Given the description of an element on the screen output the (x, y) to click on. 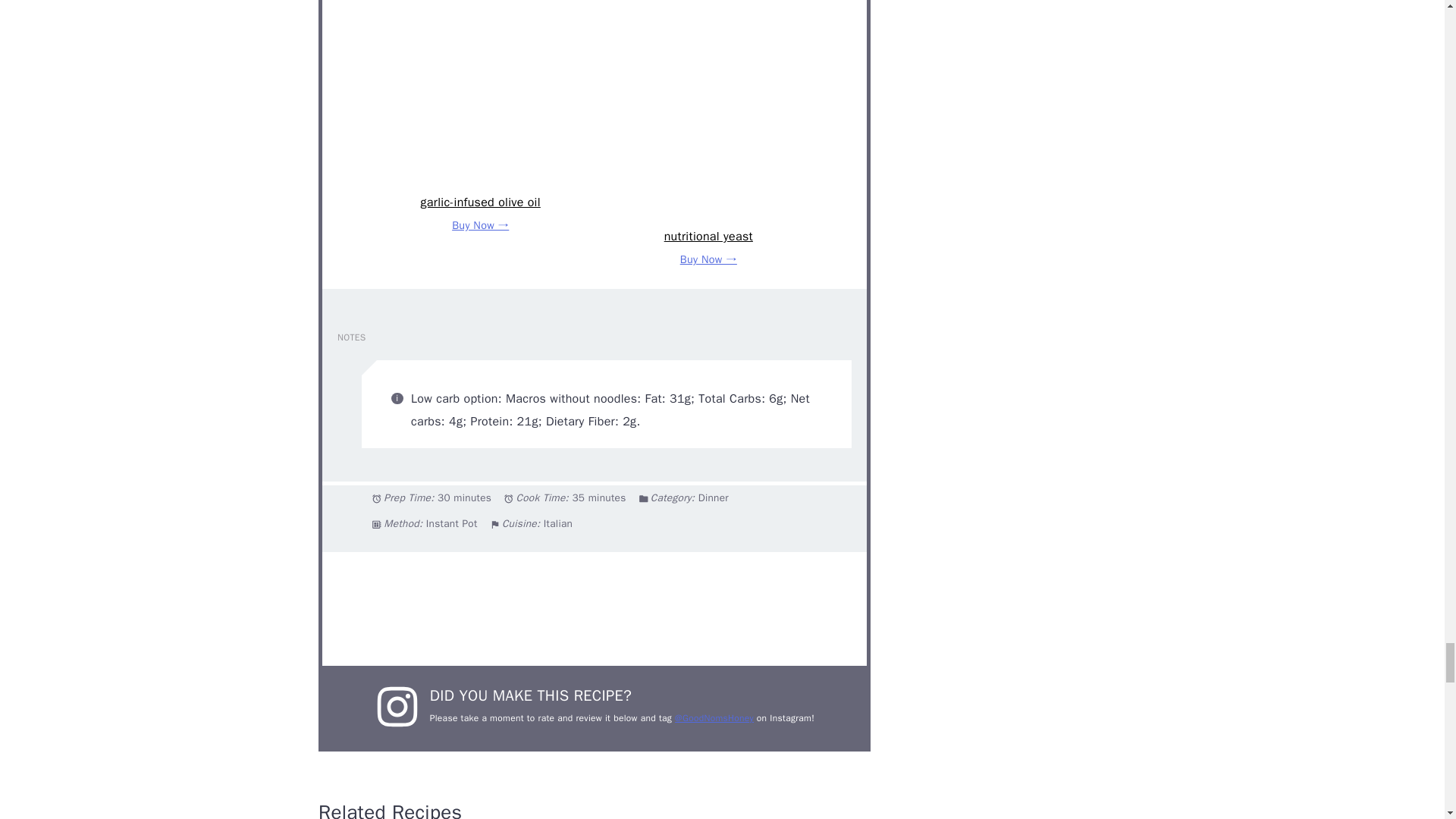
nutritional information (593, 608)
